Given the description of an element on the screen output the (x, y) to click on. 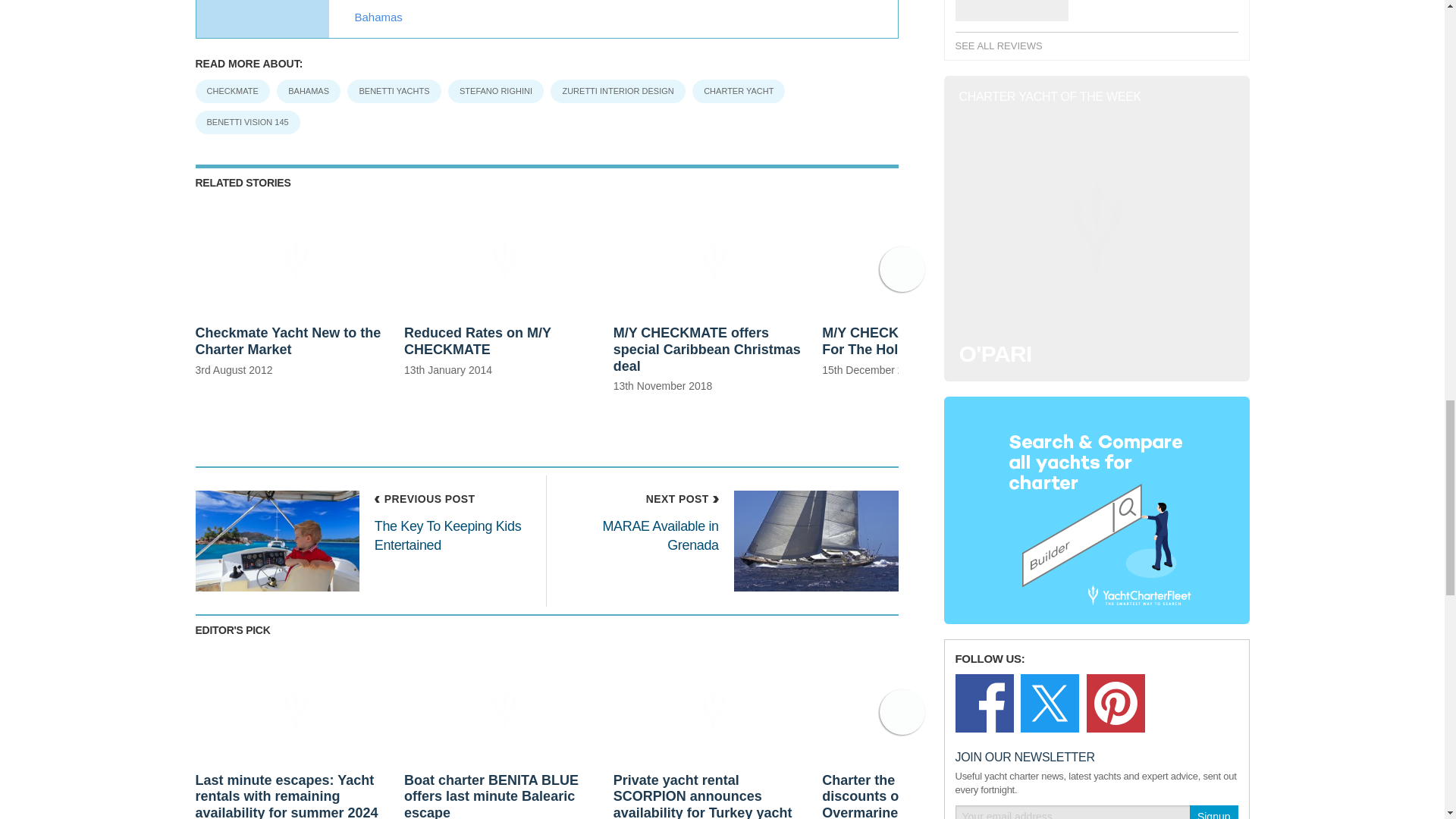
Checkmate Yacht New to the Charter Market (296, 297)
Twitter (1049, 703)
Facebook (984, 703)
Pinterest (1115, 703)
